Given the description of an element on the screen output the (x, y) to click on. 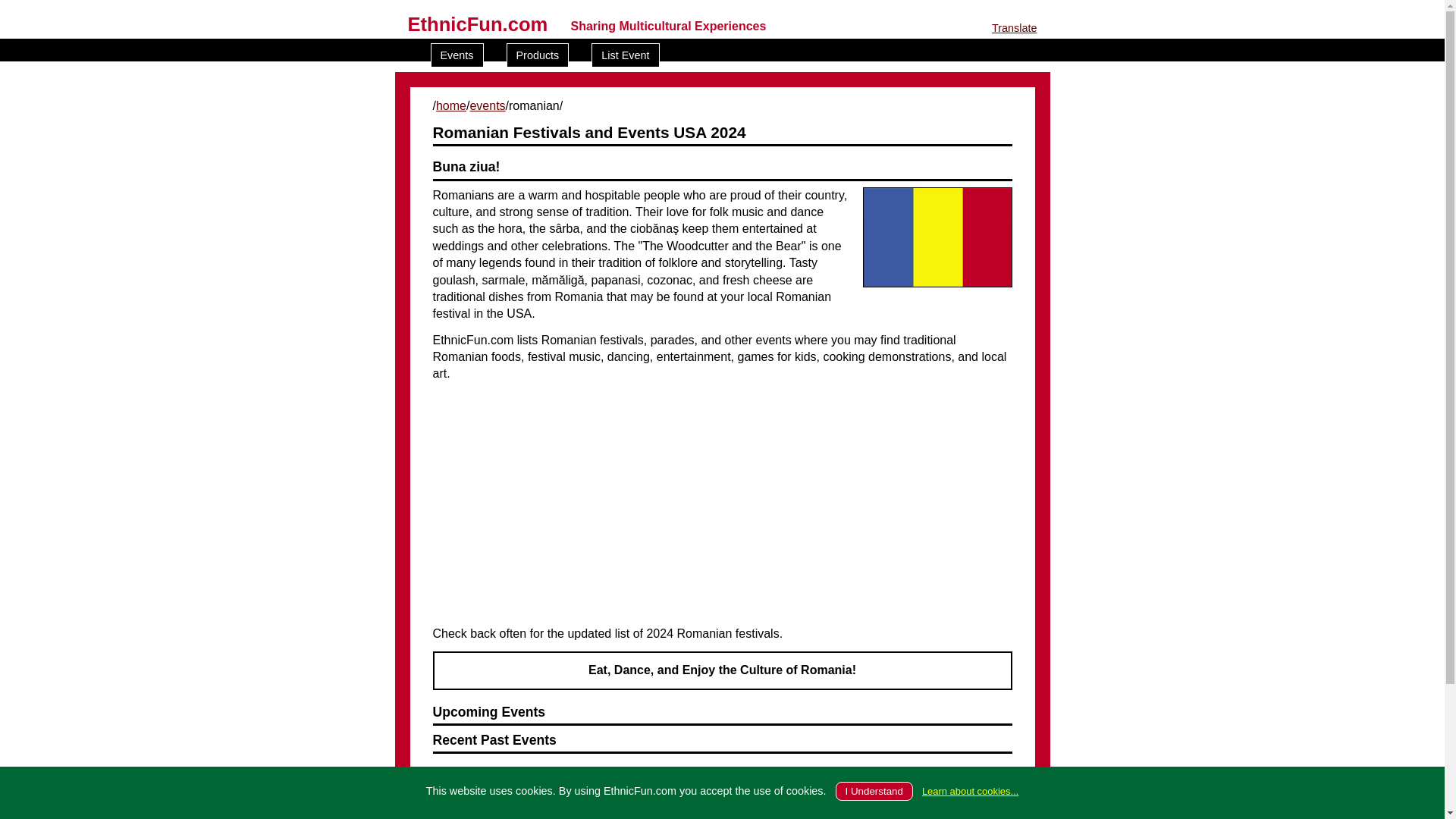
Learn about cookies... (969, 790)
I Understand (873, 791)
Advertisement (721, 504)
Translate (1013, 28)
List Event (625, 55)
Products (537, 55)
View all event categories (499, 807)
home (450, 105)
Events (456, 55)
EthnicFun.com (477, 24)
